Given the description of an element on the screen output the (x, y) to click on. 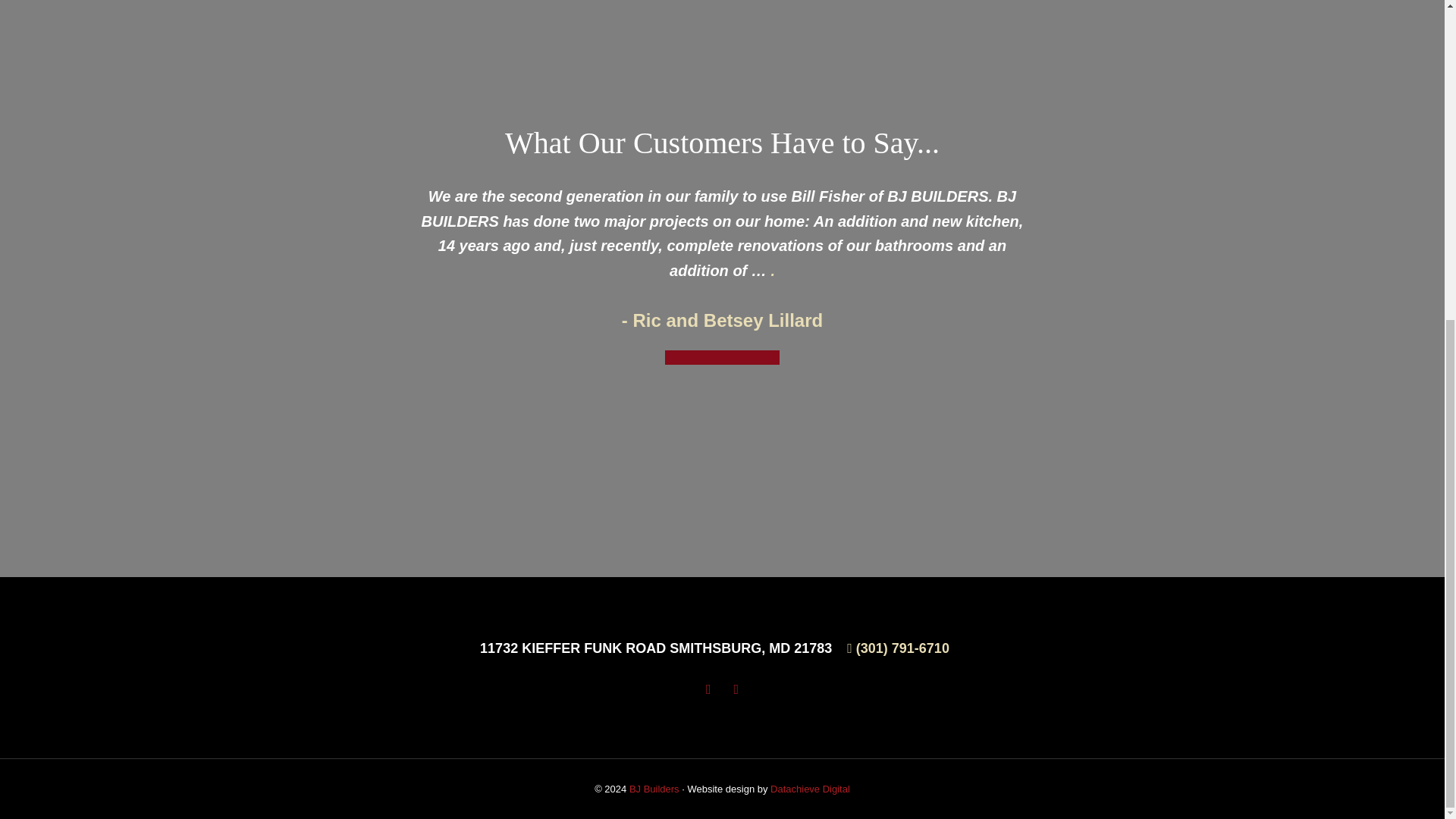
Datachieve Digital (810, 787)
BJ Builders (653, 787)
Continue Reading (721, 369)
. (772, 270)
